Given the description of an element on the screen output the (x, y) to click on. 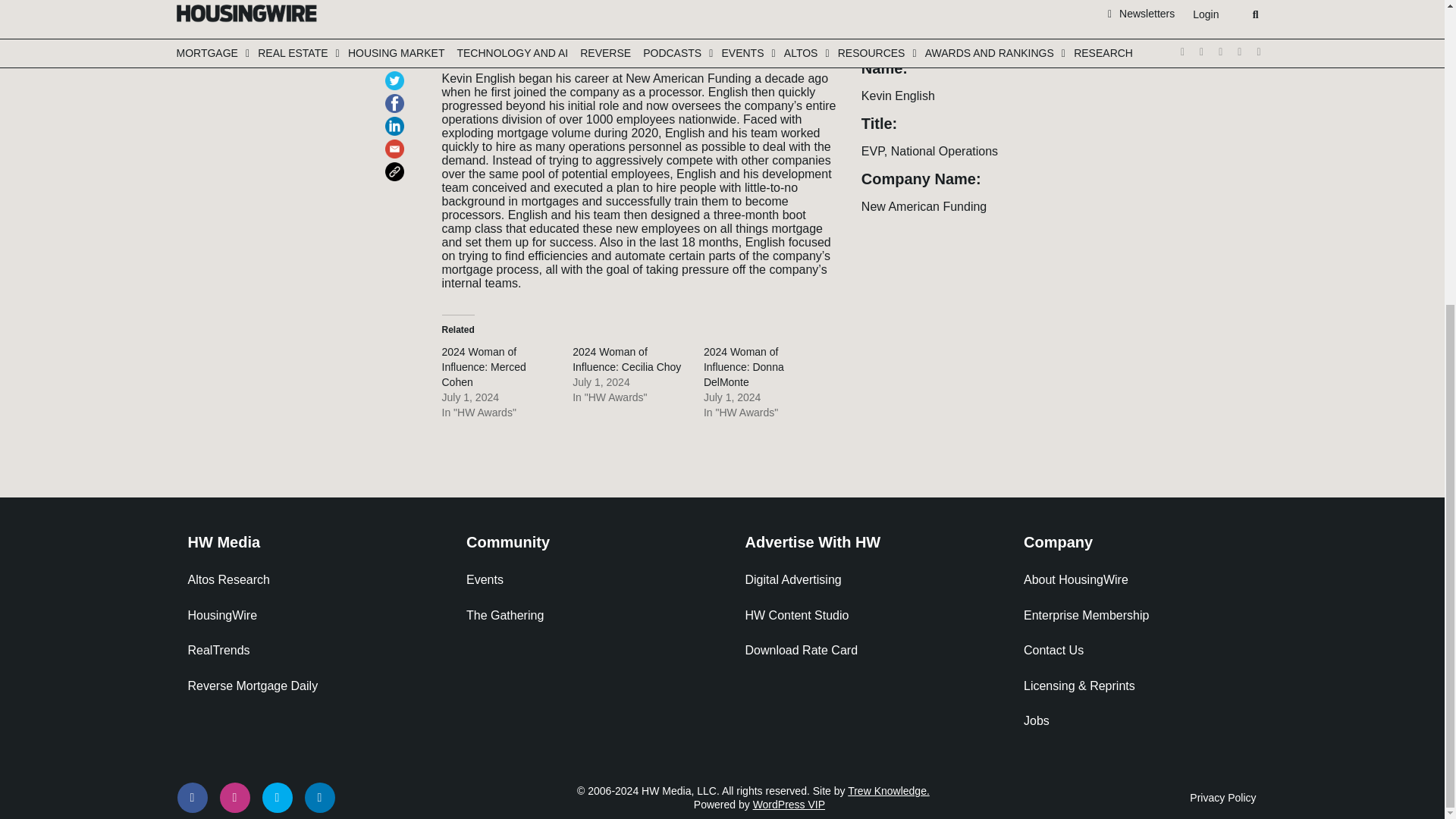
Click to share on Facebook (398, 96)
Click to copy link (398, 164)
Click to email a link to a friend (398, 141)
2024 Woman of Influence: Cecilia Choy (626, 359)
Click to share on LinkedIn (398, 119)
2024 Woman of Influence: Donna DelMonte (743, 366)
2024 Woman of Influence: Merced Cohen (483, 366)
Click to share on Twitter (398, 73)
